Given the description of an element on the screen output the (x, y) to click on. 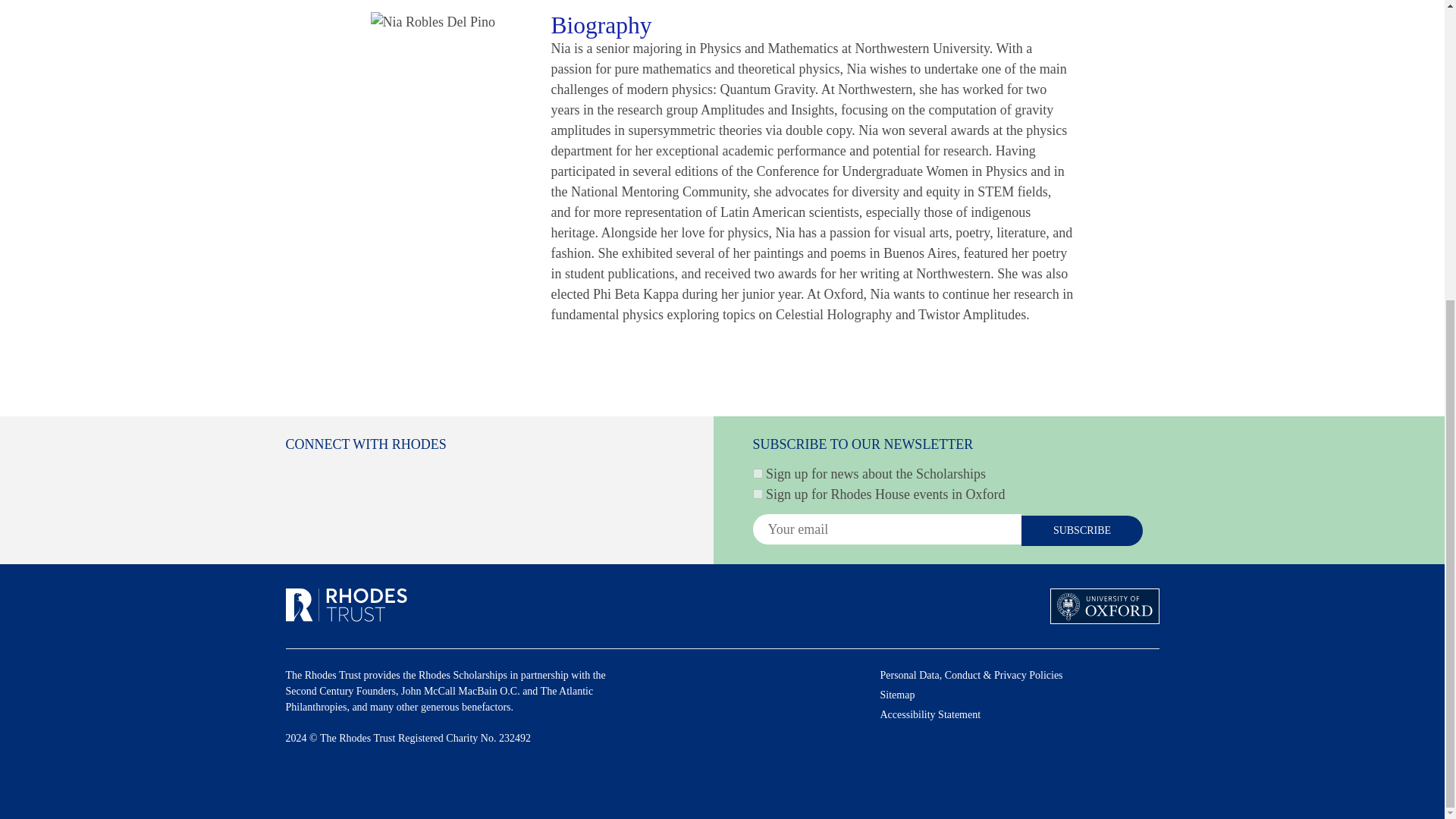
Enter your email address (886, 529)
on (756, 473)
Visit our Tik Tok page - Opens in a new window (491, 475)
on (756, 493)
